Given the description of an element on the screen output the (x, y) to click on. 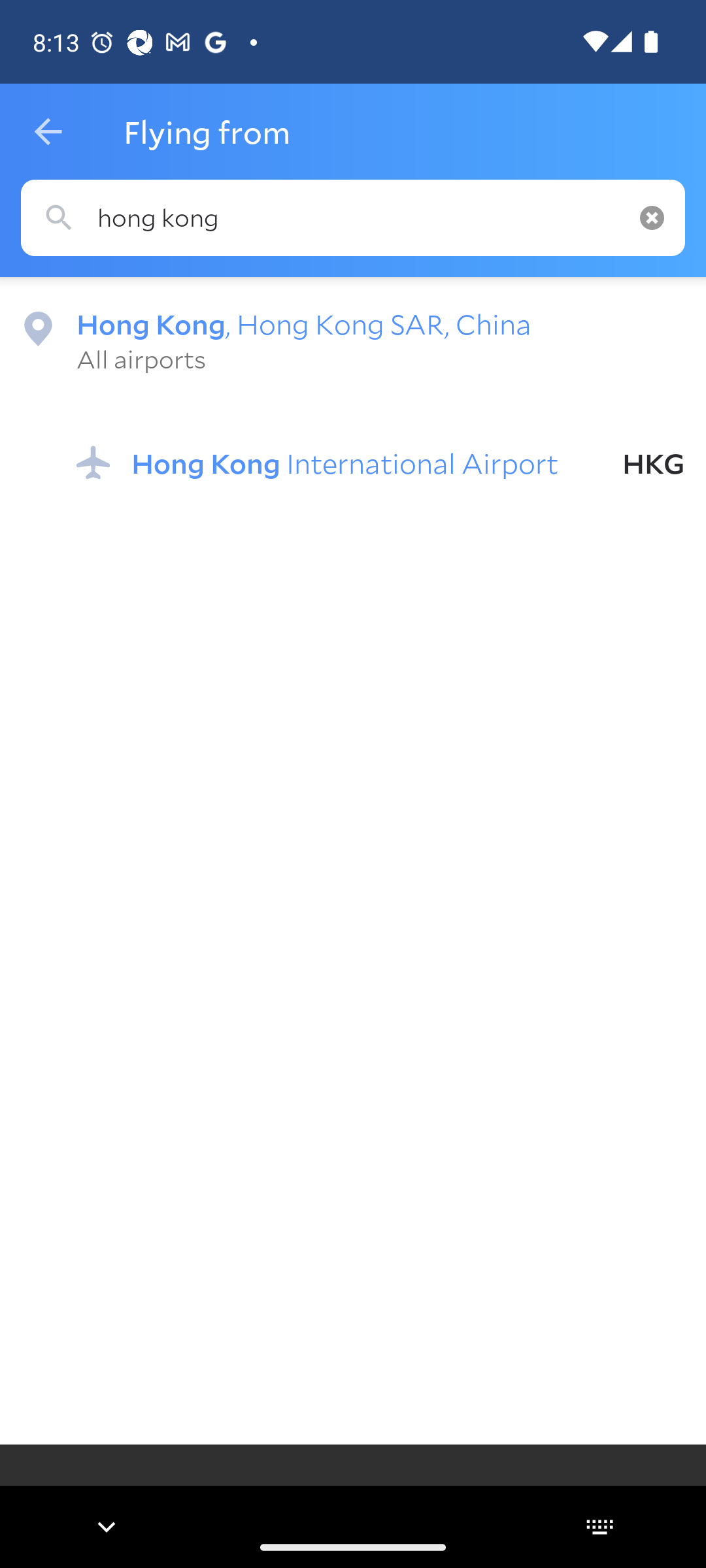
Navigate up (48, 131)
hong kong (352, 217)
Hong Kong, Hong Kong SAR, China All airports (353, 339)
Hong Kong International Airport HKG (380, 462)
